Given the description of an element on the screen output the (x, y) to click on. 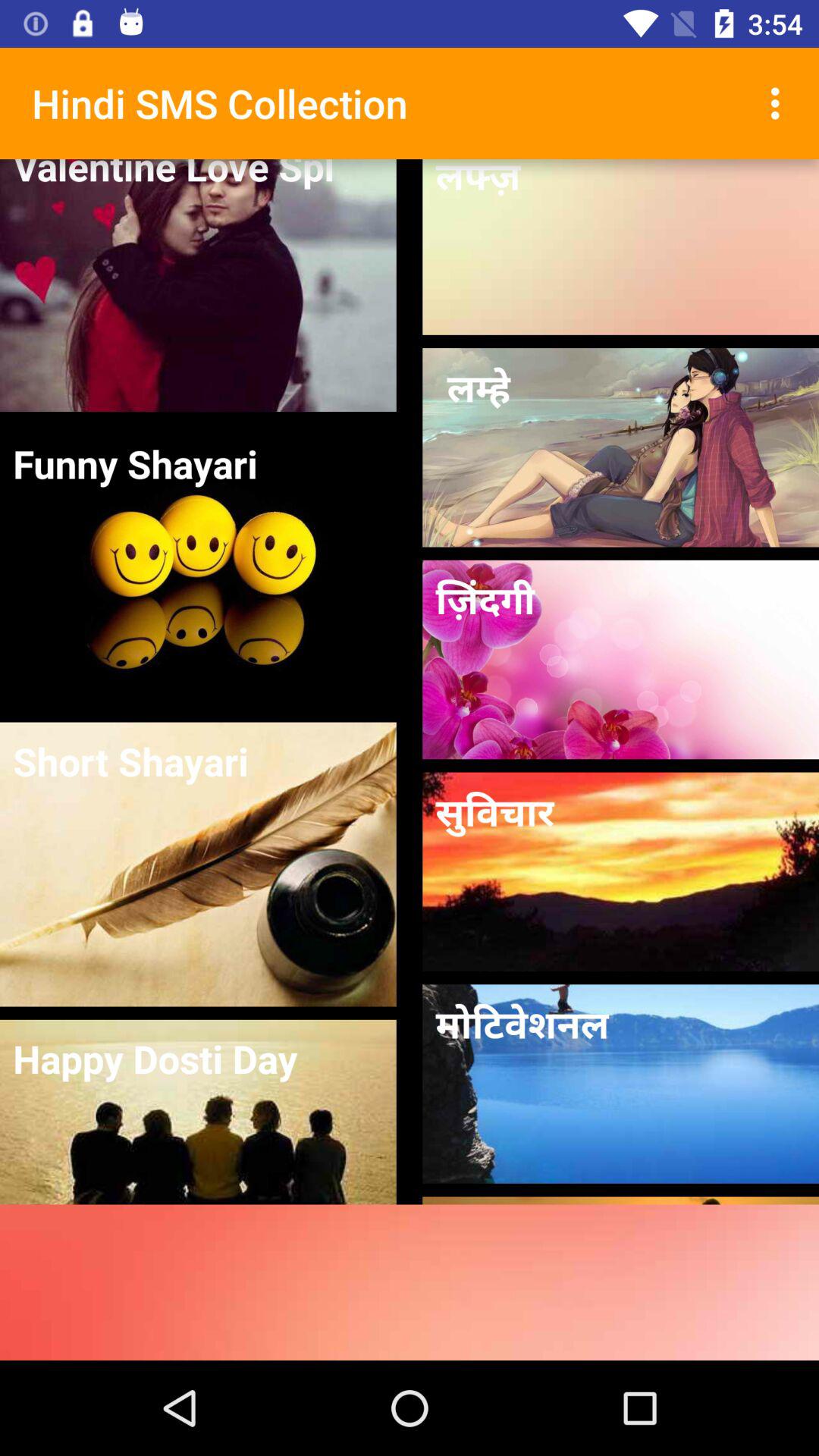
select the image below the three dots button on the web page (620, 407)
